Given the description of an element on the screen output the (x, y) to click on. 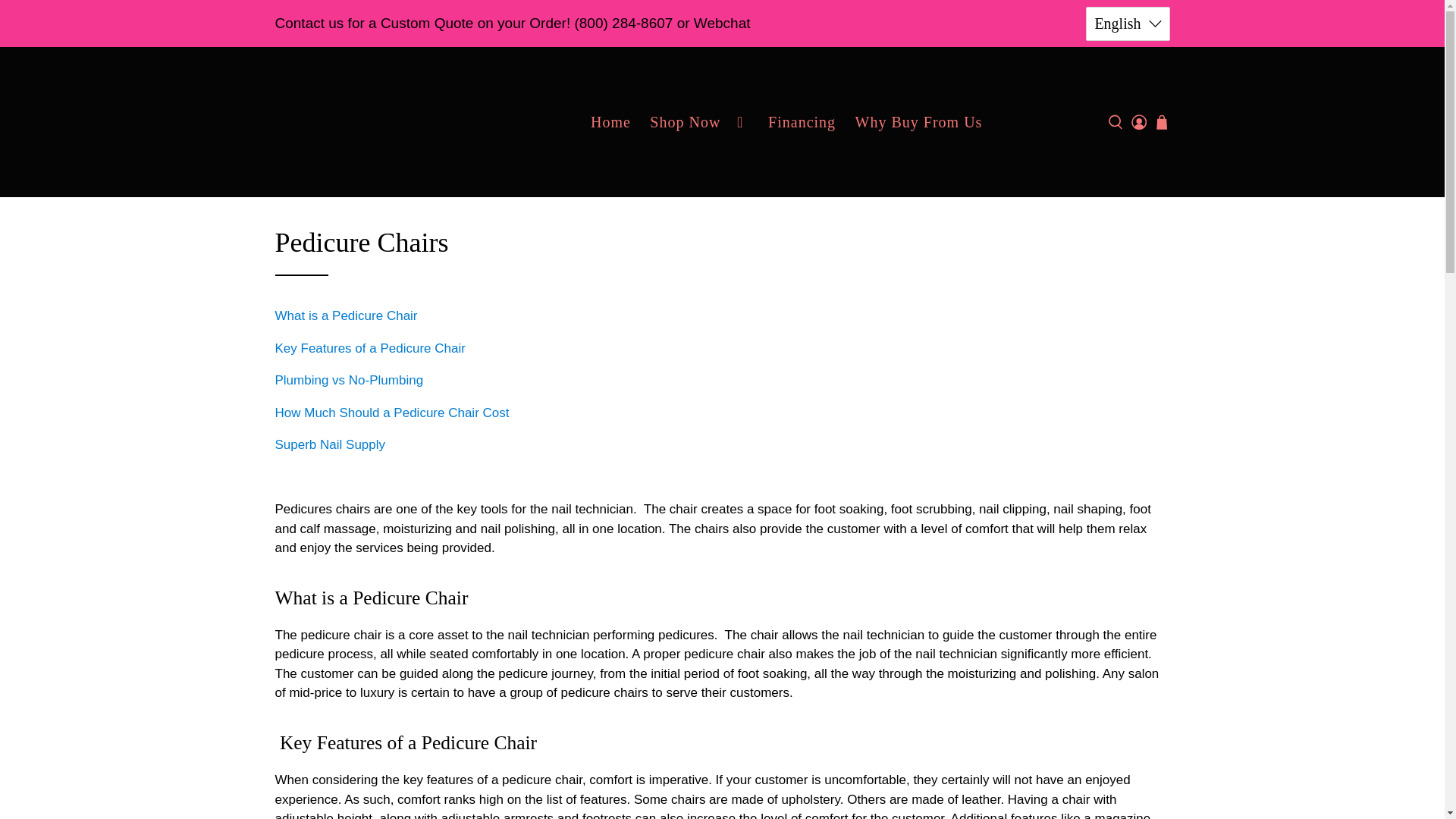
Why Buy From Us (918, 121)
Financing (801, 121)
vi (1127, 105)
es (1127, 147)
English (1127, 22)
en (1127, 62)
Home (610, 121)
Superb Nail Supply (370, 121)
Shop Now (699, 121)
